Given the description of an element on the screen output the (x, y) to click on. 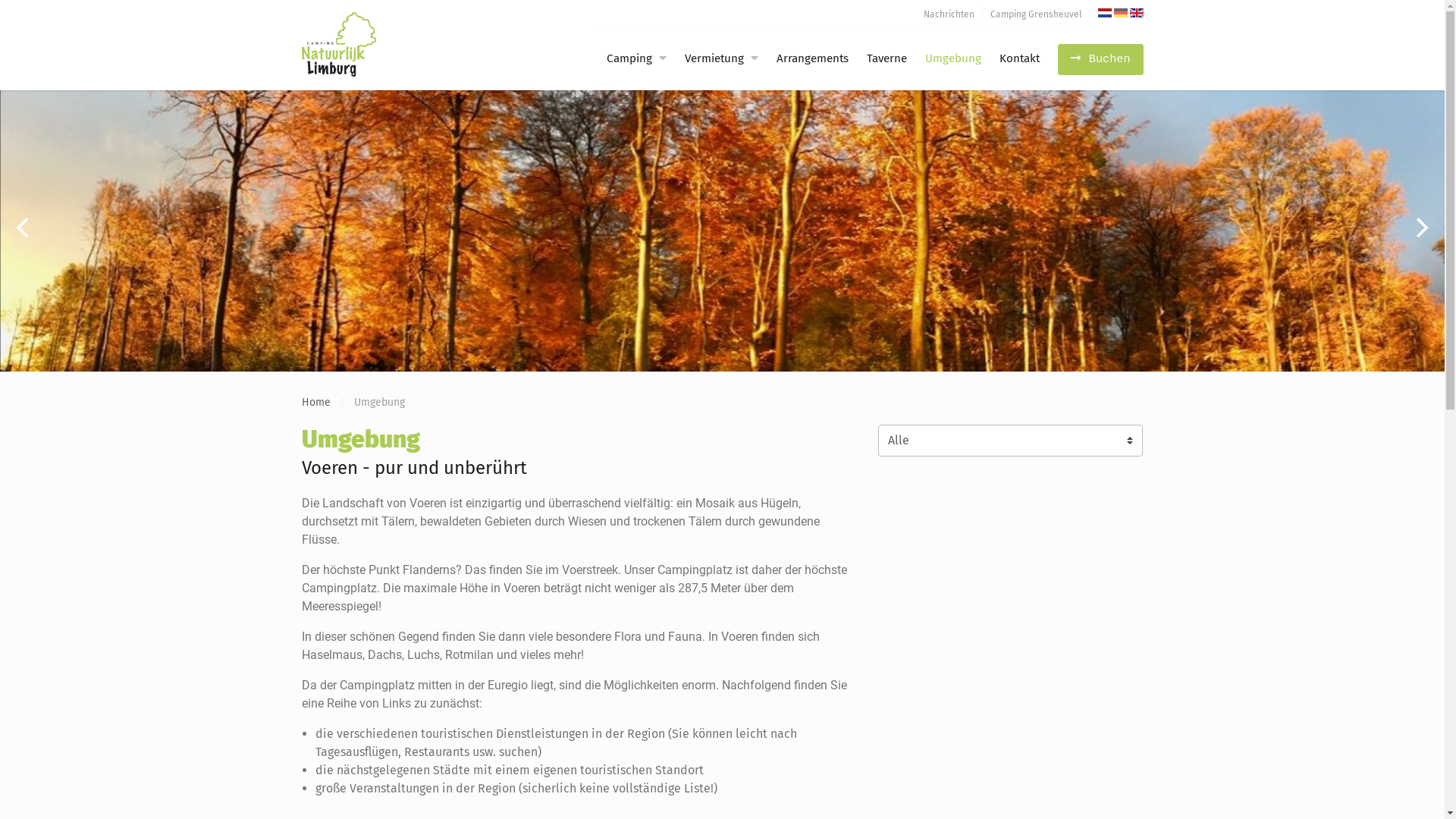
Arrangements Element type: text (812, 58)
Vermietung Element type: text (709, 58)
Natuurlijk Limburg - Camping & Vakantiewoningen in Limburg Element type: text (377, 44)
Taverne Element type: text (886, 58)
Deutsch (DE) Element type: hover (1119, 12)
Home Element type: text (315, 401)
Kontakt Element type: text (1019, 58)
Buchen Element type: text (1100, 59)
Umgebung Element type: text (953, 58)
Camping Grensheuvel Element type: text (1036, 14)
Nederlands (NL) Element type: hover (1104, 12)
Nachrichten Element type: text (948, 14)
English (UK) Element type: hover (1136, 12)
Camping Element type: text (624, 58)
